Given the description of an element on the screen output the (x, y) to click on. 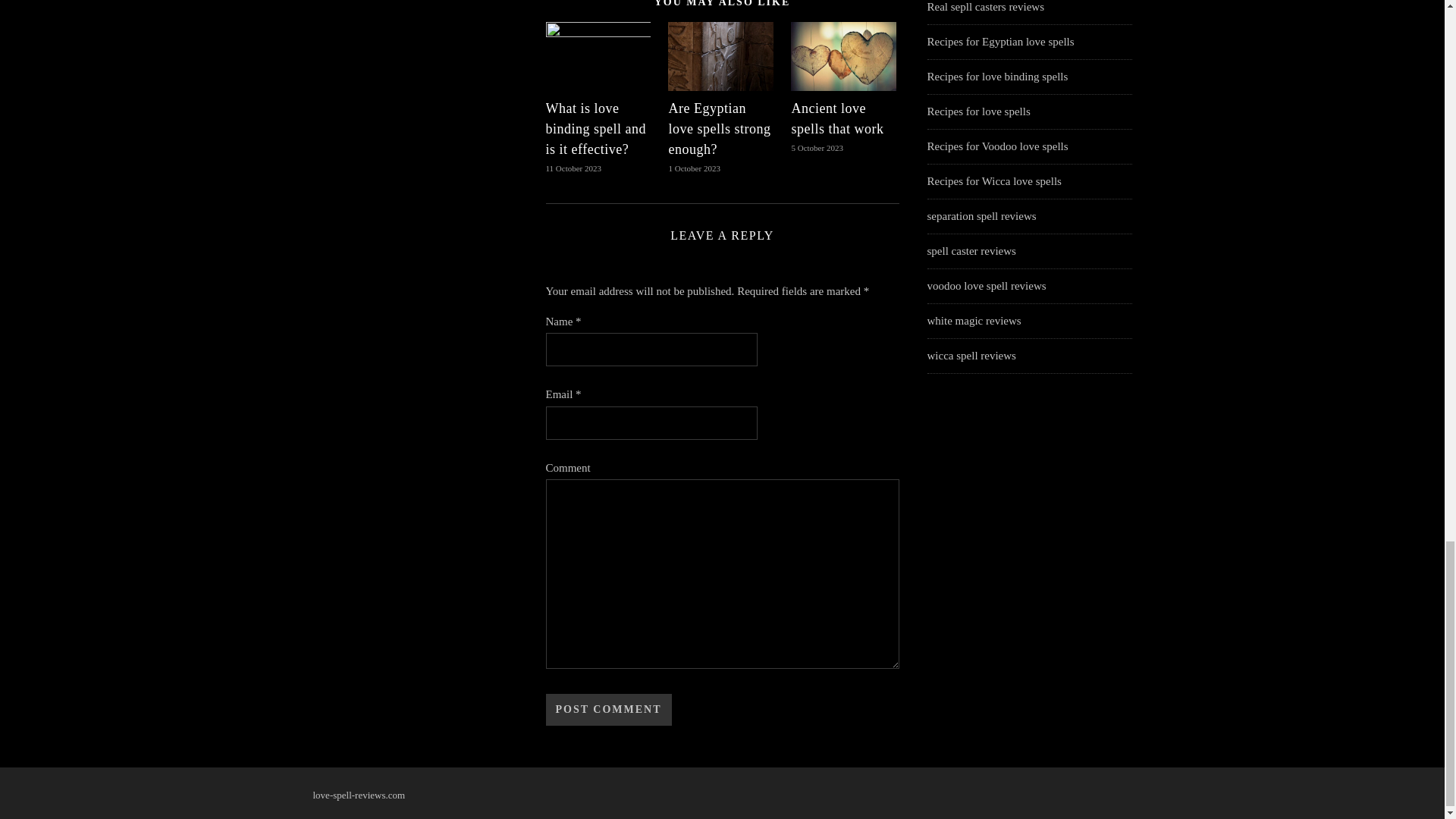
Post Comment (608, 709)
Post Comment (608, 709)
What is love binding spell and is it effective? (596, 128)
Are Egyptian love spells strong enough? (719, 128)
Ancient love spells that work (836, 118)
